Given the description of an element on the screen output the (x, y) to click on. 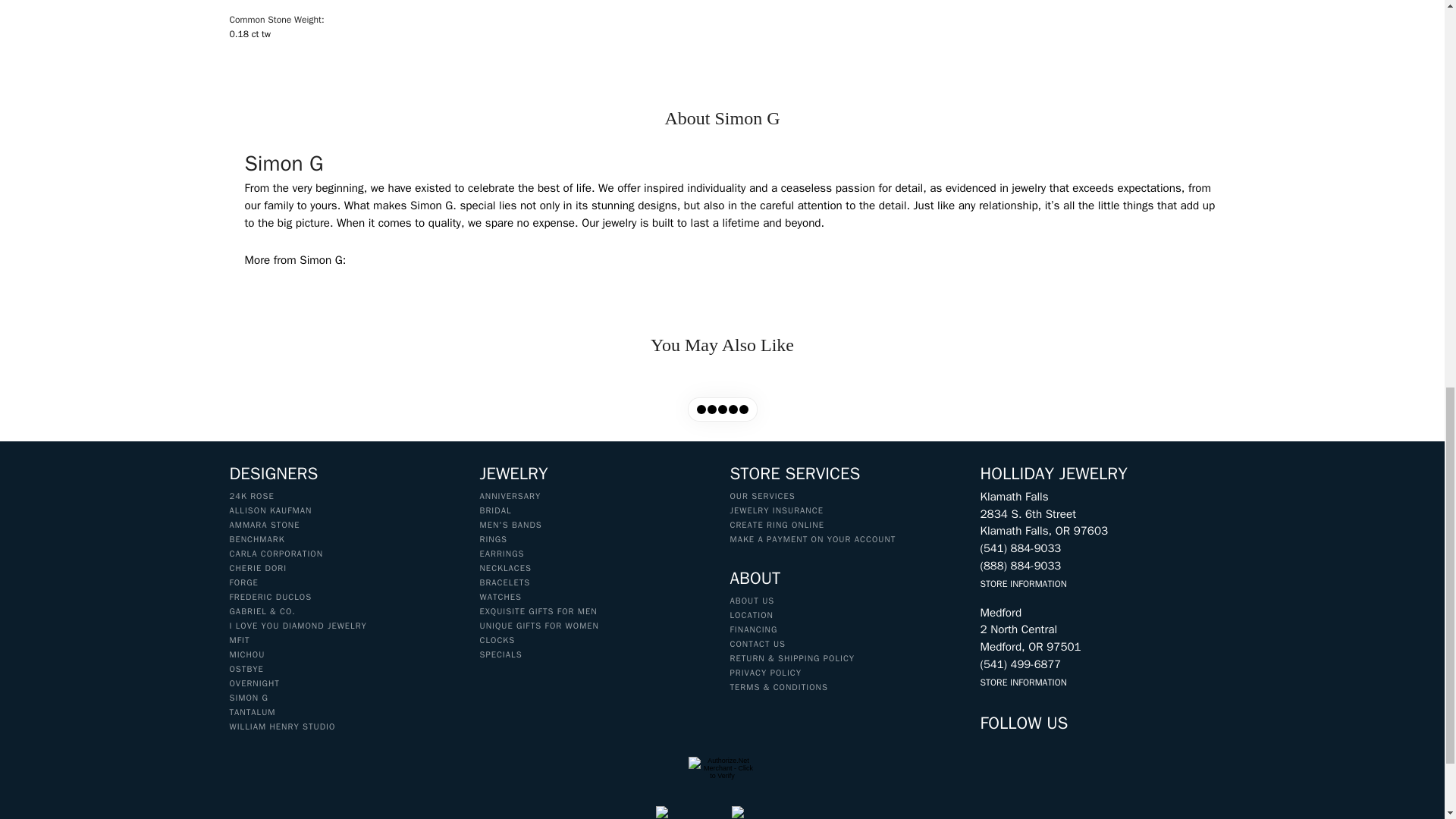
Gemological Institute of America (686, 812)
Independent Jewelers Organization (760, 812)
